Given the description of an element on the screen output the (x, y) to click on. 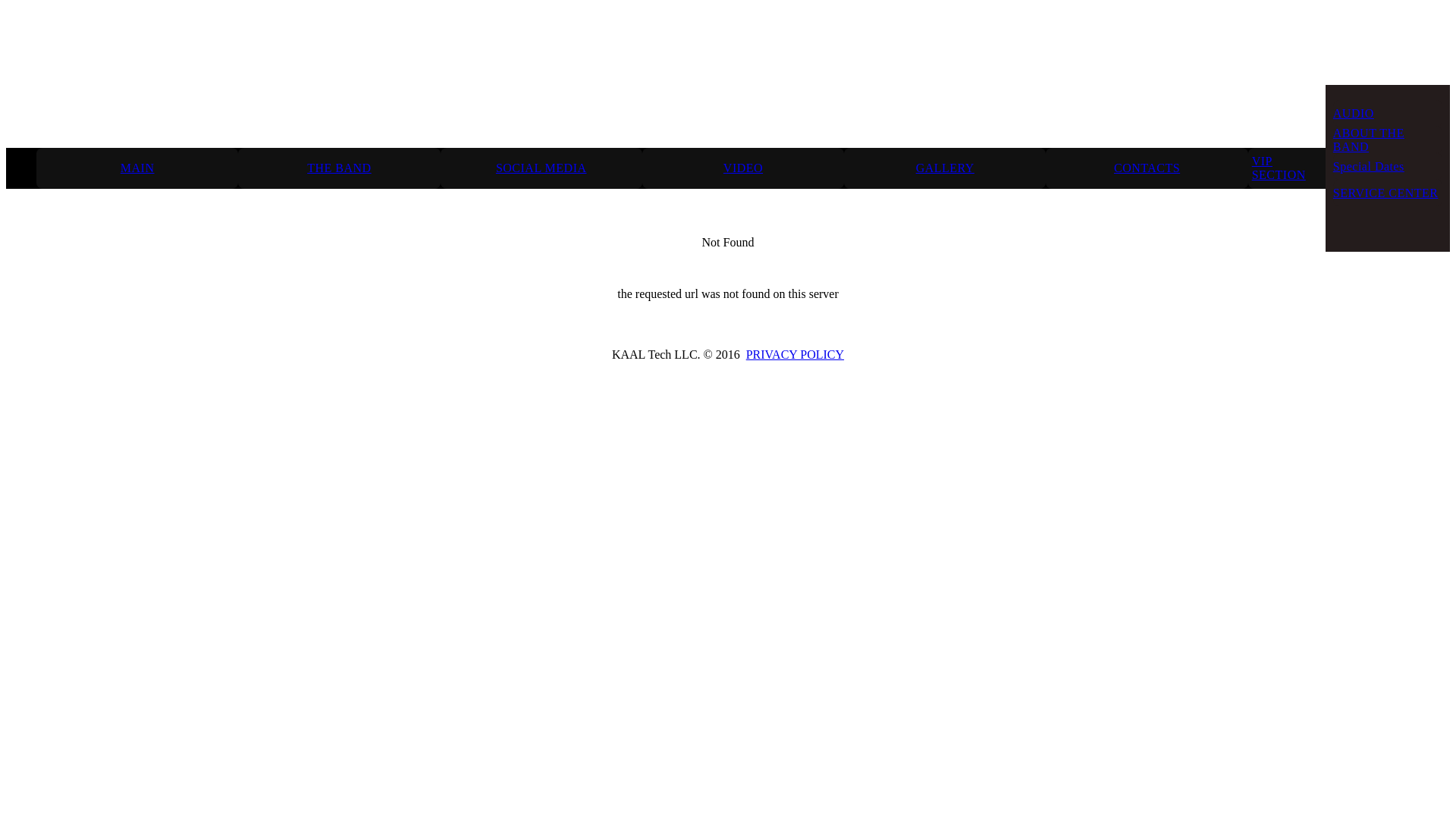
MAIN Element type: text (137, 167)
SOCIAL MEDIA Element type: text (541, 167)
PRIVACY POLICY Element type: text (795, 354)
AUDIO Element type: text (1353, 112)
THE BAND Element type: text (338, 167)
ABOUT THE BAND Element type: text (1387, 139)
Special Dates Element type: text (1368, 165)
VIP SECTION Element type: text (1286, 168)
SERVICE CENTER Element type: text (1385, 193)
VIDEO Element type: text (742, 167)
GALLERY Element type: text (945, 167)
CONTACTS Element type: text (1146, 167)
